Given the description of an element on the screen output the (x, y) to click on. 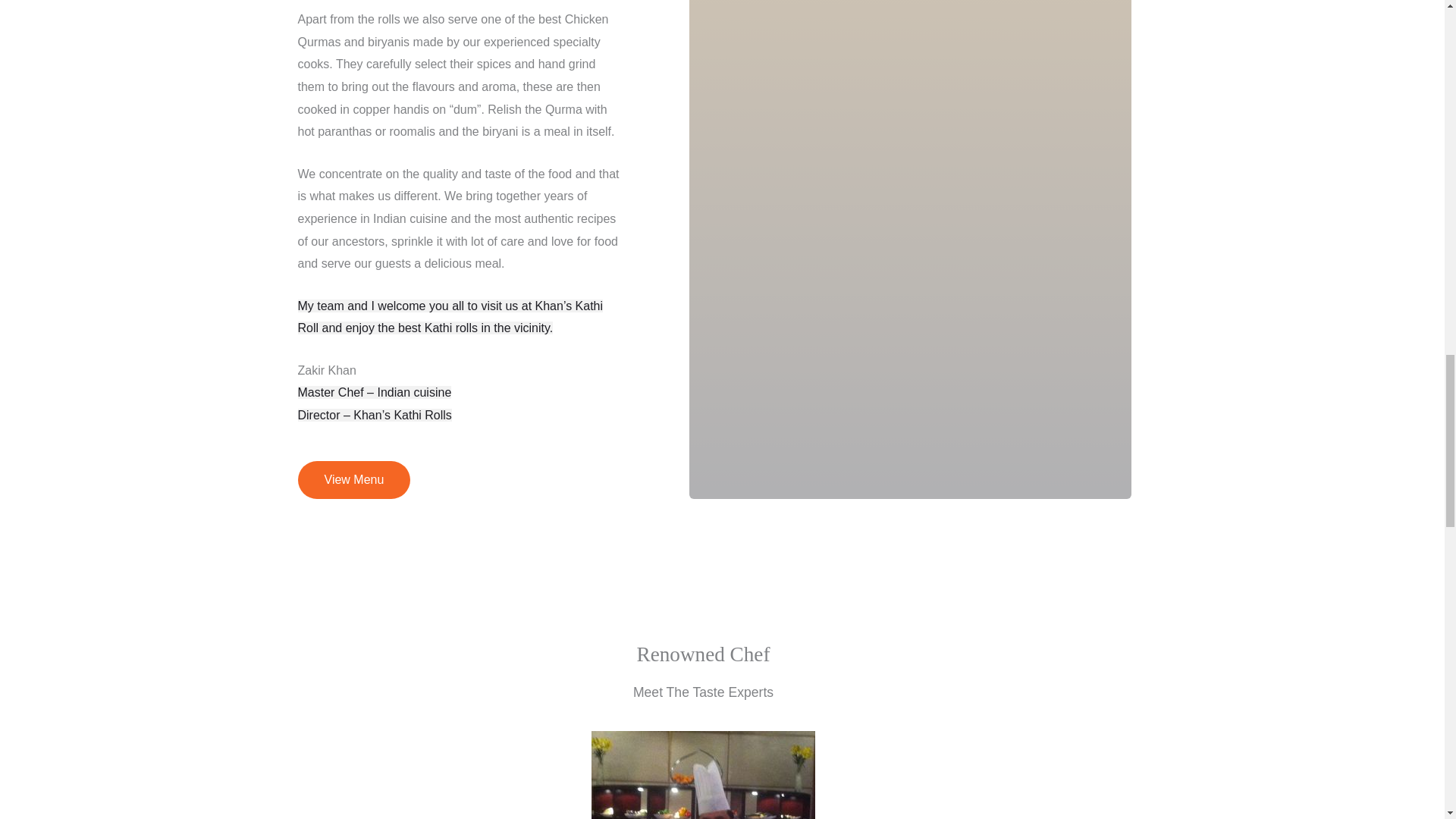
View Menu (353, 479)
